Given the description of an element on the screen output the (x, y) to click on. 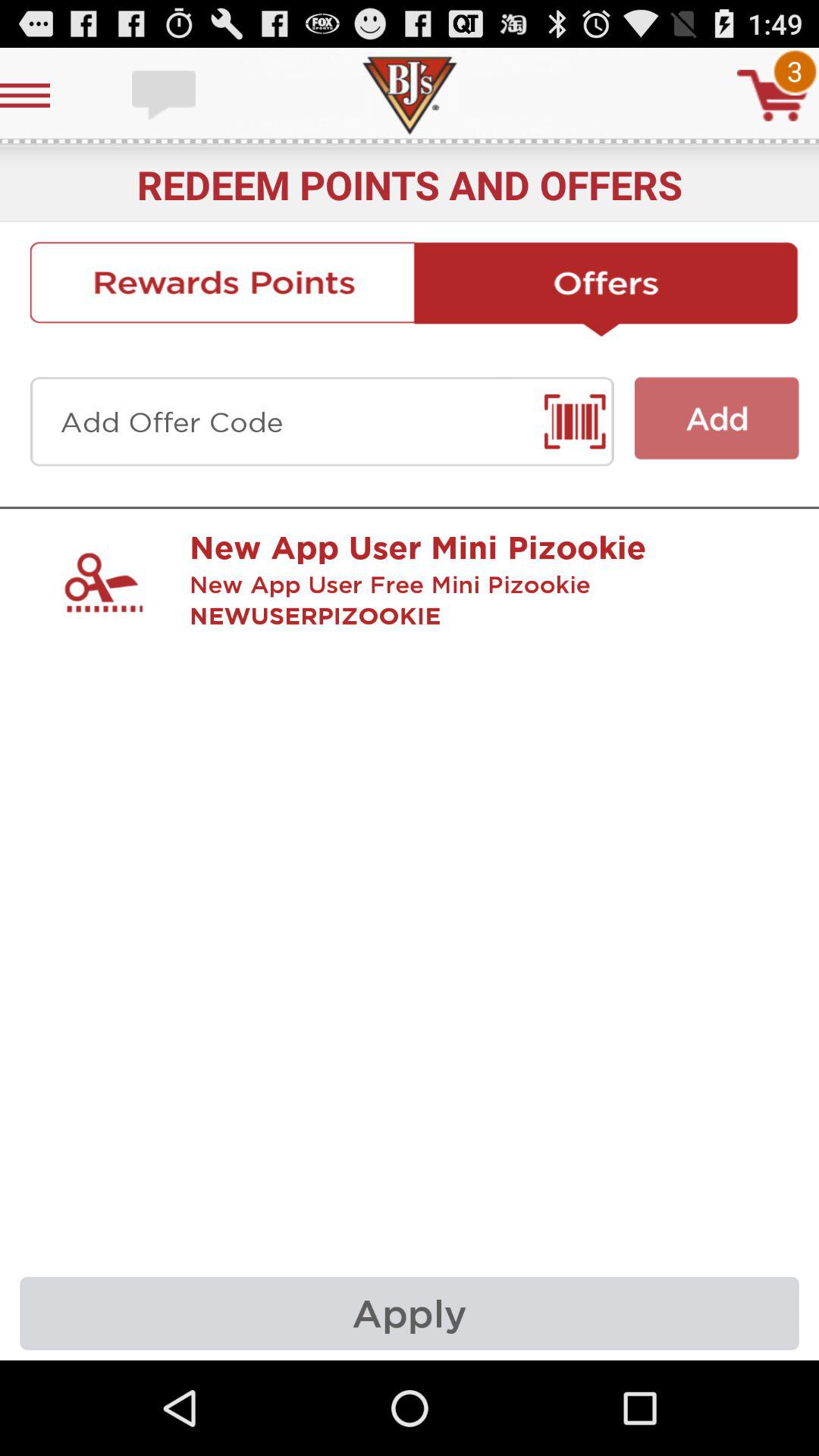
go to buy (772, 95)
